Given the description of an element on the screen output the (x, y) to click on. 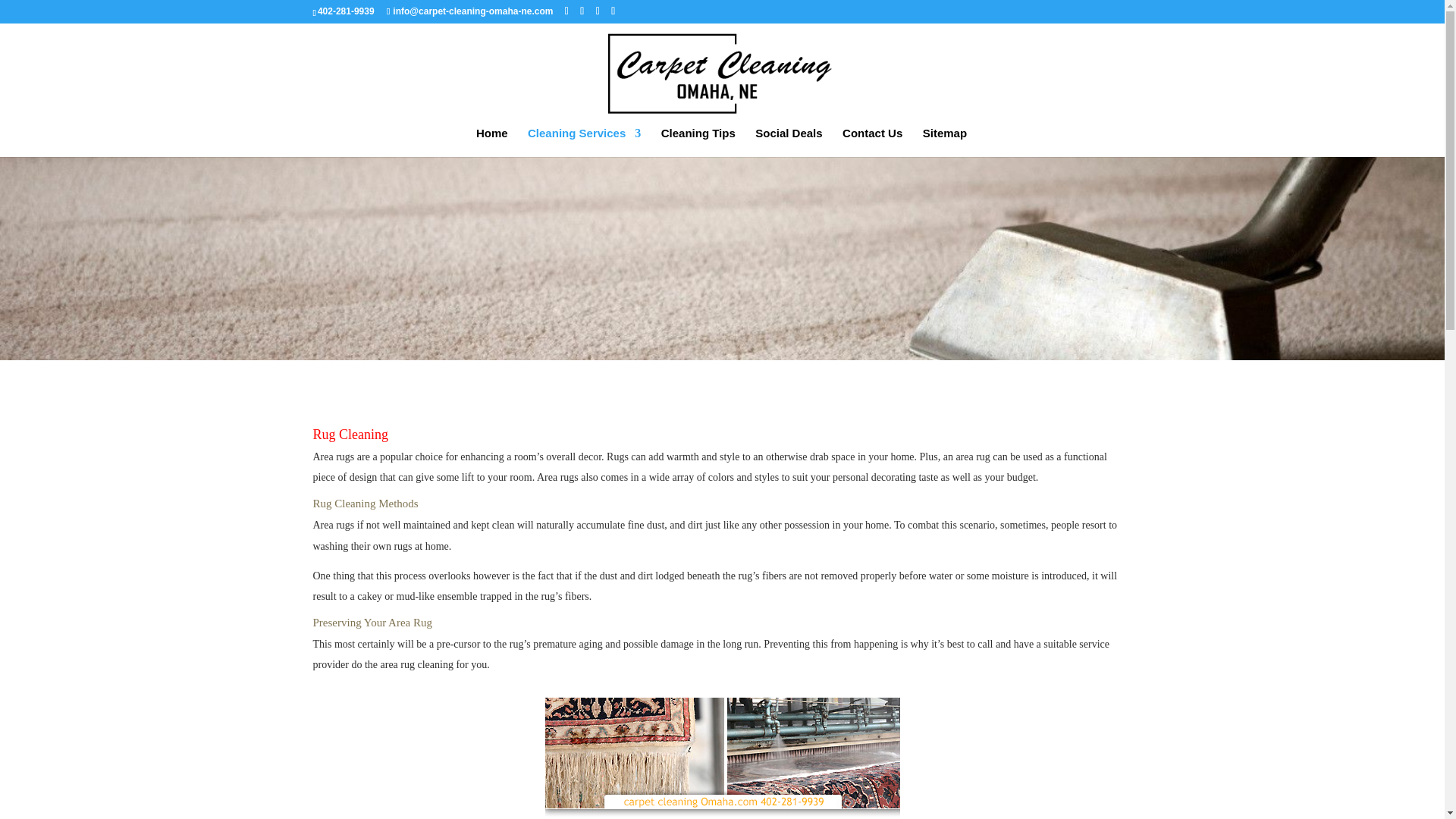
Social Deals (788, 142)
Home (492, 142)
Sitemap (944, 142)
Cleaning Tips (698, 142)
Cleaning Services (583, 142)
Contact Us (872, 142)
